Given the description of an element on the screen output the (x, y) to click on. 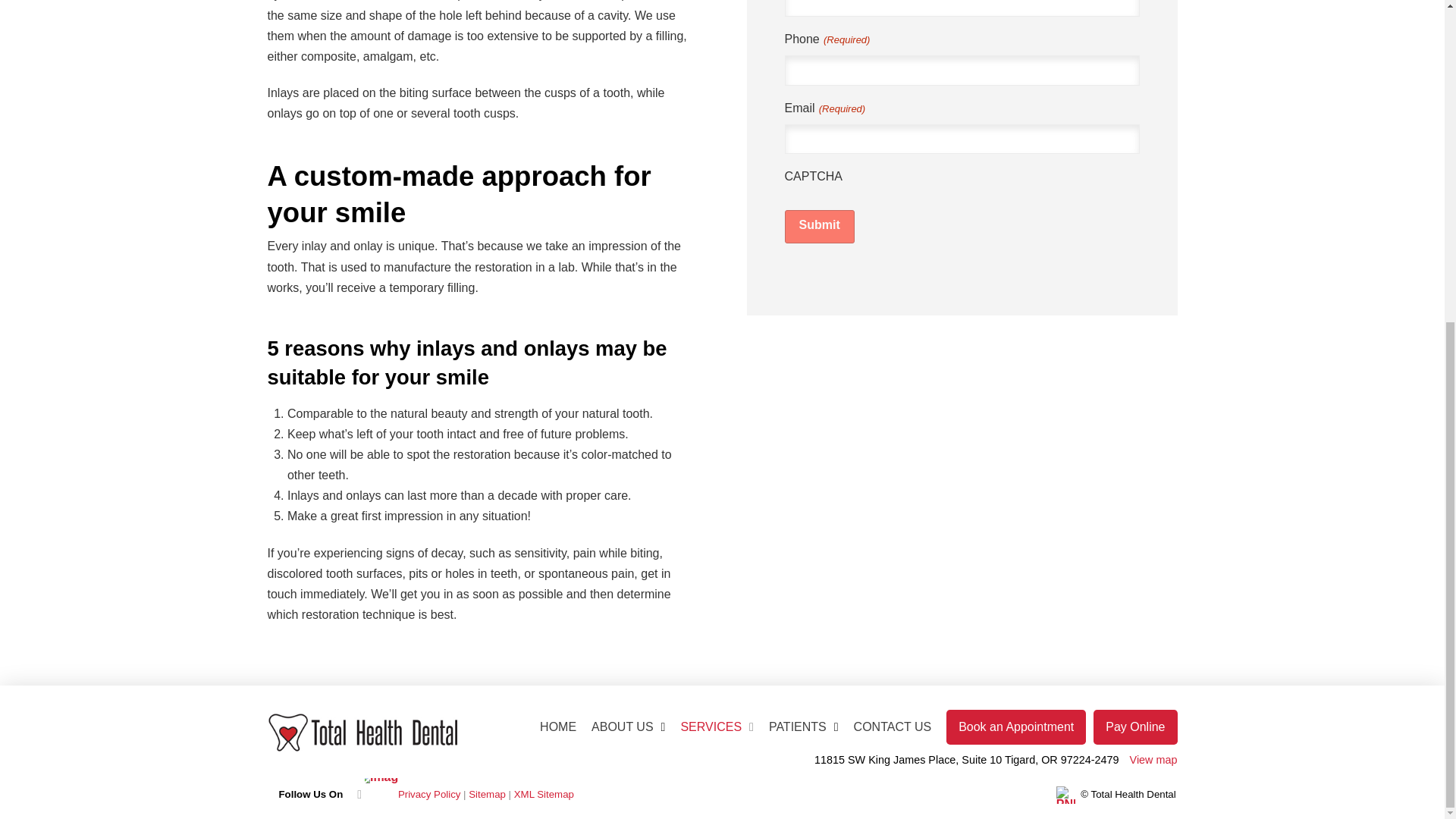
Submit (818, 226)
HOME (557, 727)
ABOUT US (627, 727)
Submit (818, 226)
